Given the description of an element on the screen output the (x, y) to click on. 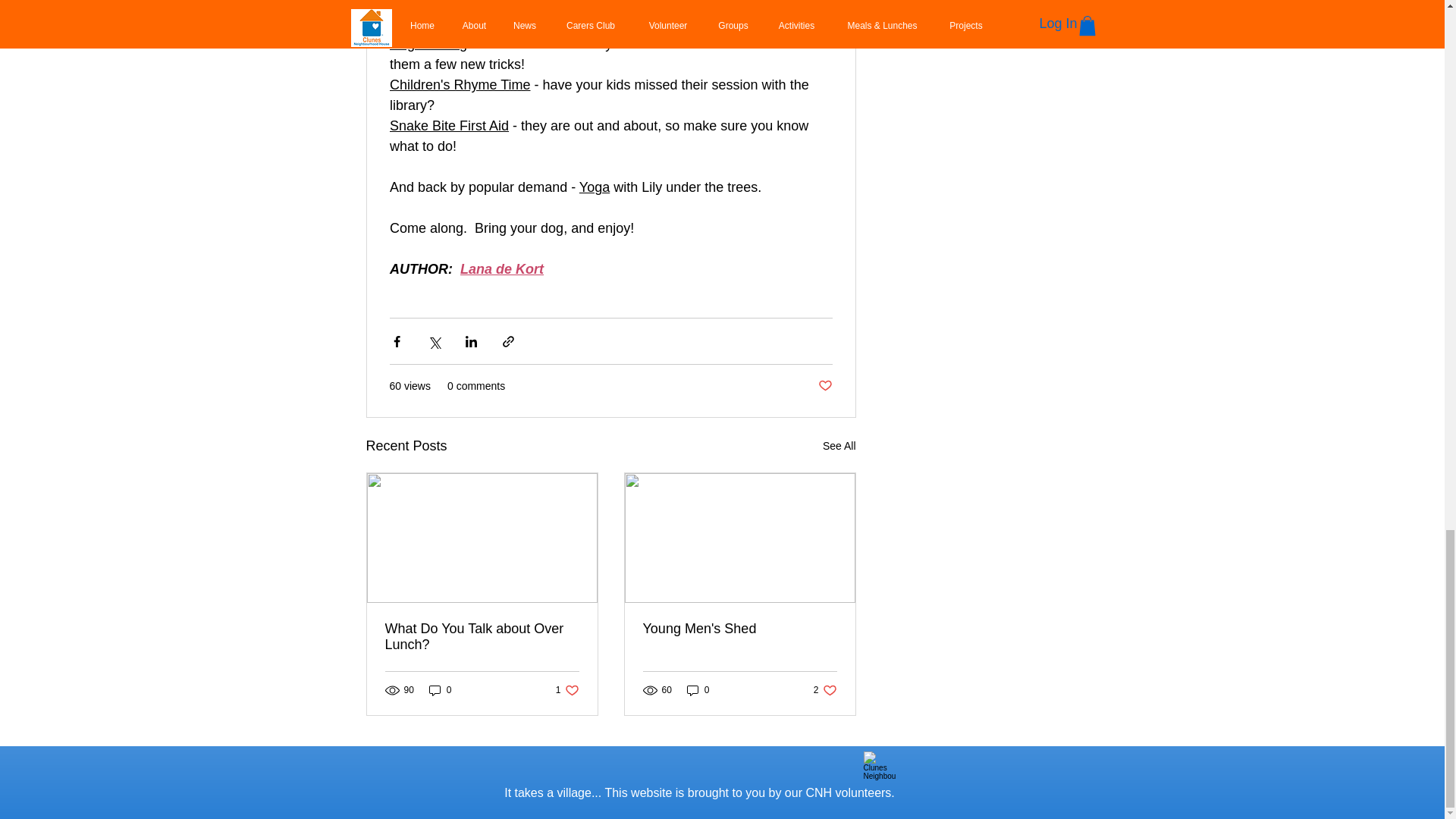
See All (839, 445)
Lana de Kort (501, 268)
Snake Bite First Aid (449, 125)
0 (440, 690)
Post not marked as liked (825, 690)
Young Men's Shed (823, 385)
0 (740, 628)
Yoga (698, 690)
